Given the description of an element on the screen output the (x, y) to click on. 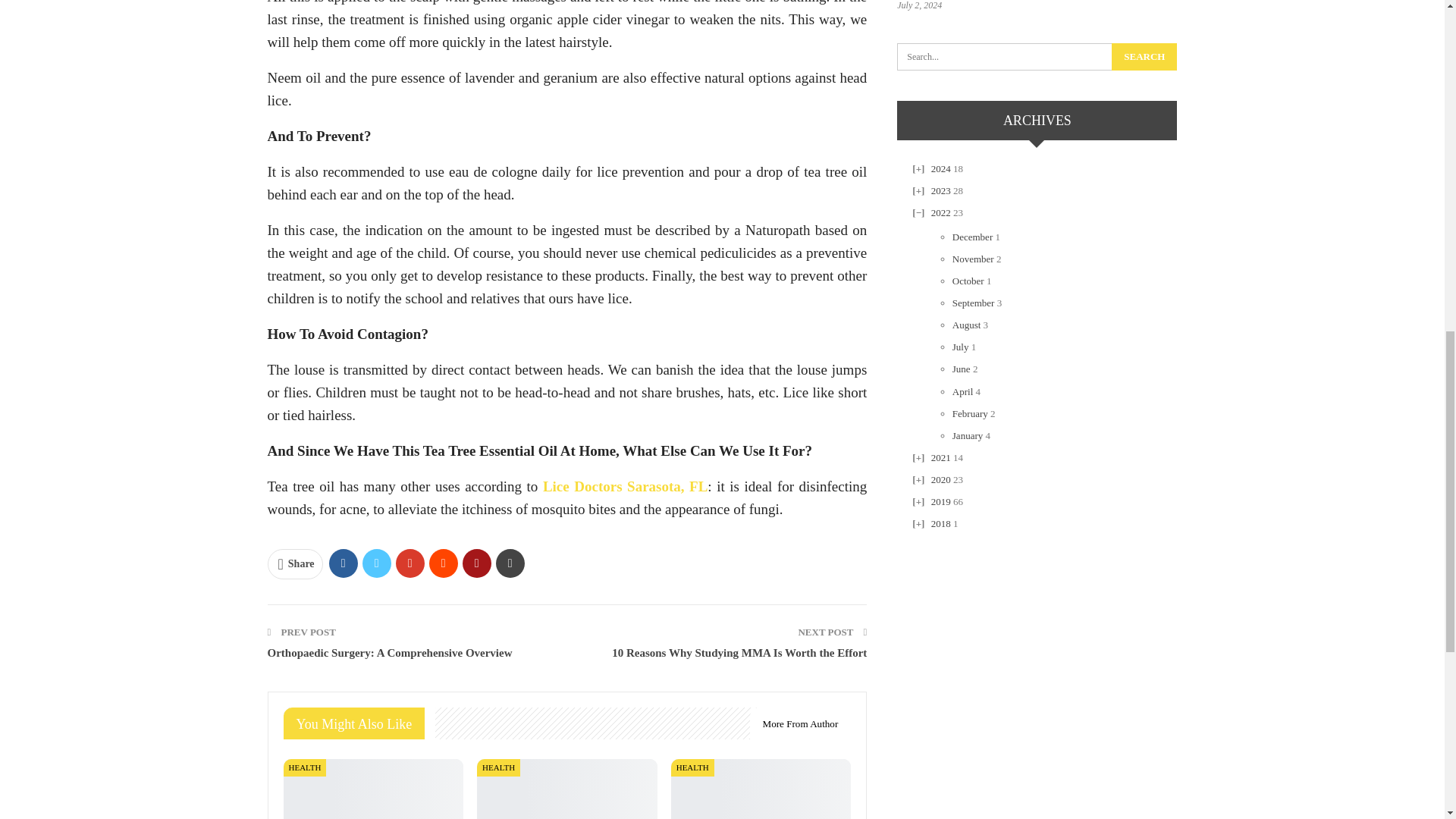
Lice Doctors Sarasota, FL (625, 486)
Search (1144, 56)
Search (1144, 56)
How Urgent Care Clinics Handle Insurance and Payments (373, 789)
Hope Renewed Exploring IVF as a Path to Parenthood (567, 789)
What Is Angioedema? A Comprehensive Guide (761, 789)
